Given the description of an element on the screen output the (x, y) to click on. 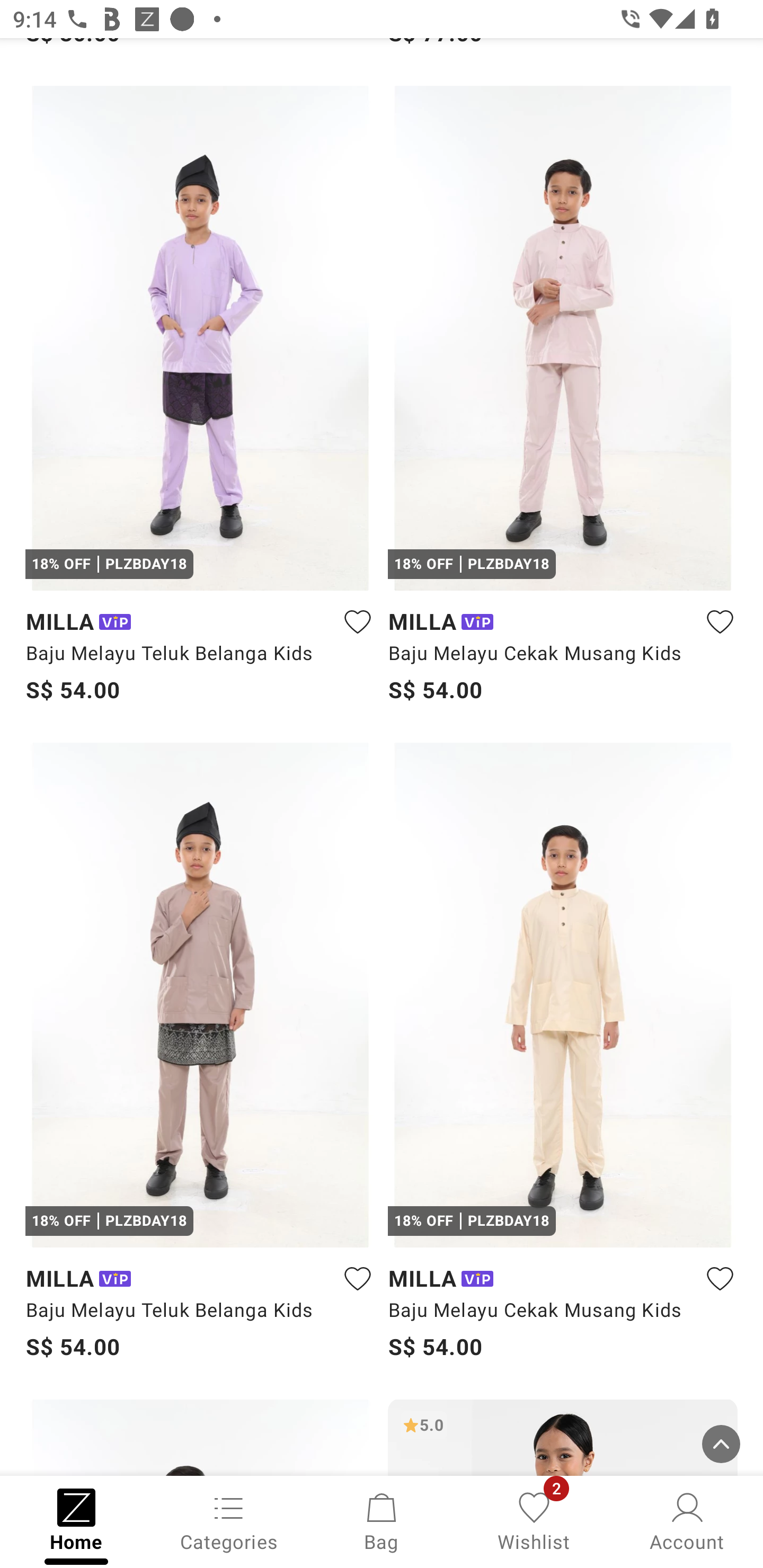
Categories (228, 1519)
Bag (381, 1519)
Wishlist, 2 new notifications Wishlist (533, 1519)
Account (686, 1519)
